Given the description of an element on the screen output the (x, y) to click on. 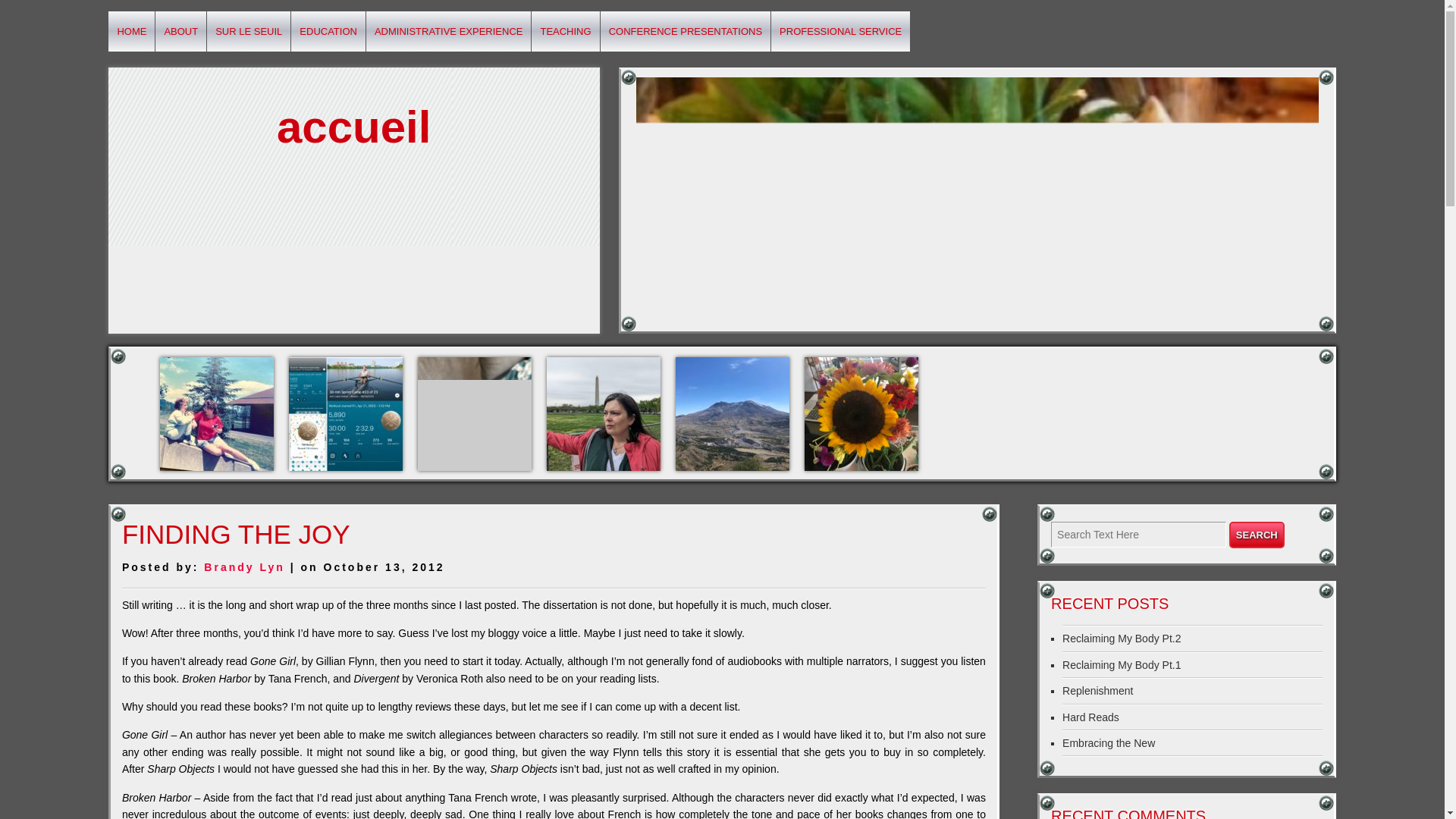
Brandy Lyn (244, 567)
HOME (130, 31)
ADMINISTRATIVE EXPERIENCE (448, 31)
ABOUT (180, 31)
Search (1256, 534)
Embracing the New (1108, 743)
TEACHING (564, 31)
Search (1256, 534)
Reclaiming My Body Pt.2 (1121, 638)
Replenishment (1097, 690)
